Given the description of an element on the screen output the (x, y) to click on. 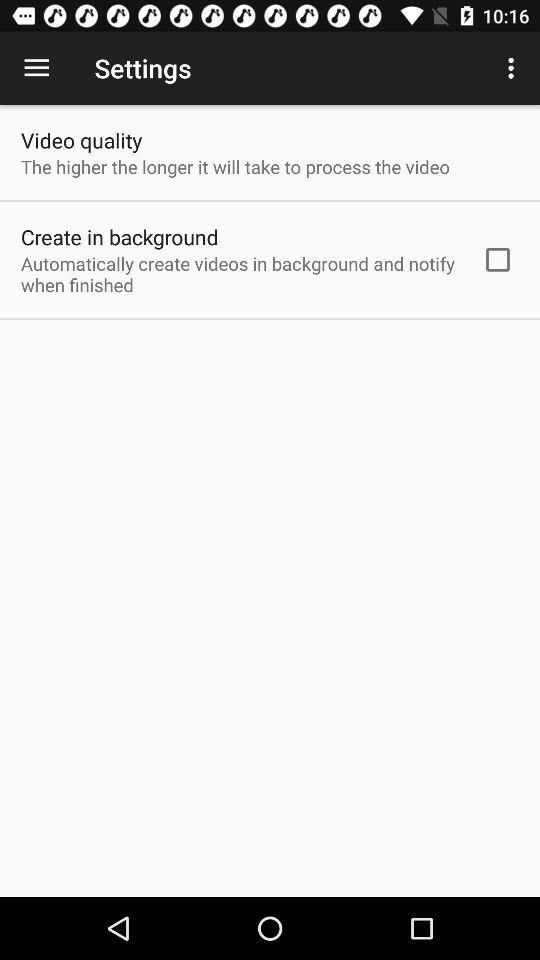
turn off the icon to the left of the settings item (36, 68)
